Given the description of an element on the screen output the (x, y) to click on. 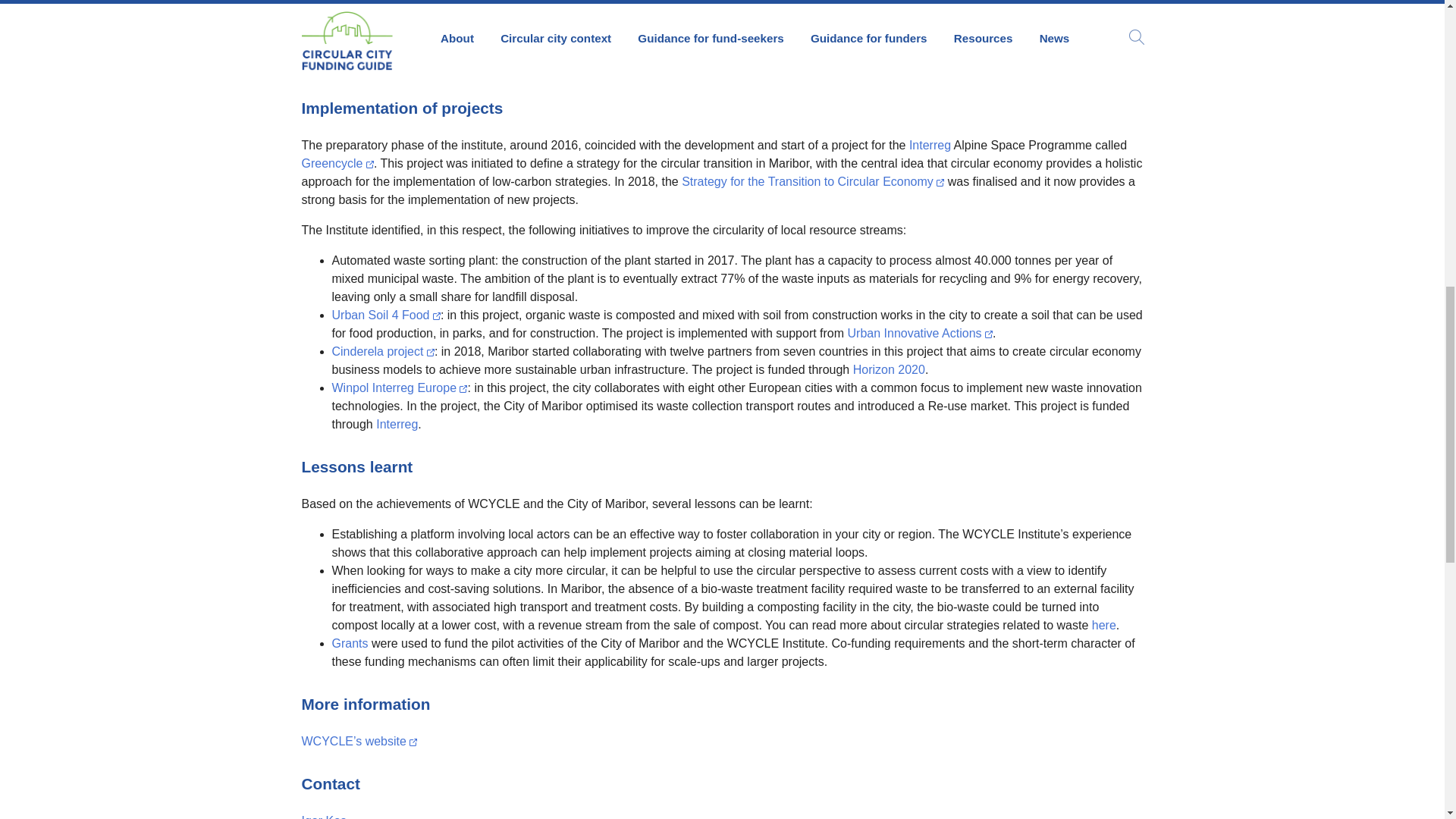
Cinderela project (382, 350)
Urban Innovative Actions (919, 332)
Interreg (930, 144)
Urban Soil 4 Food (386, 314)
Horizon 2020 (888, 369)
Strategy for the Transition to Circular Economy (812, 181)
Greencycle (337, 163)
